Given the description of an element on the screen output the (x, y) to click on. 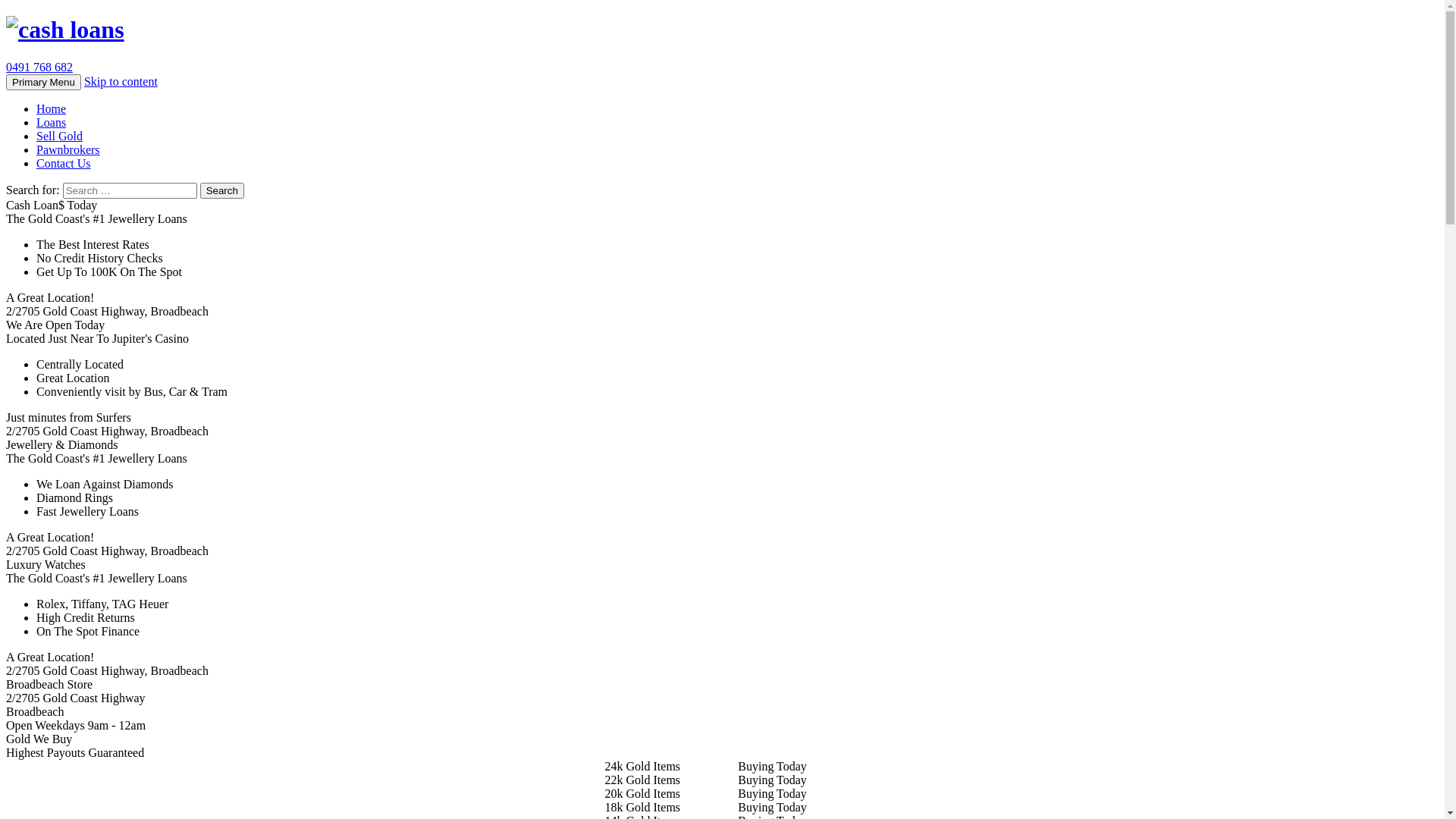
Skip to content Element type: text (120, 81)
Primary Menu Element type: text (43, 82)
Loans Element type: text (50, 122)
Contact Us Element type: text (63, 162)
Search Element type: text (222, 190)
Home Element type: text (50, 108)
0491 768 682 Element type: text (39, 66)
Sell Gold Element type: text (59, 135)
Pawnbrokers Element type: text (68, 149)
